Given the description of an element on the screen output the (x, y) to click on. 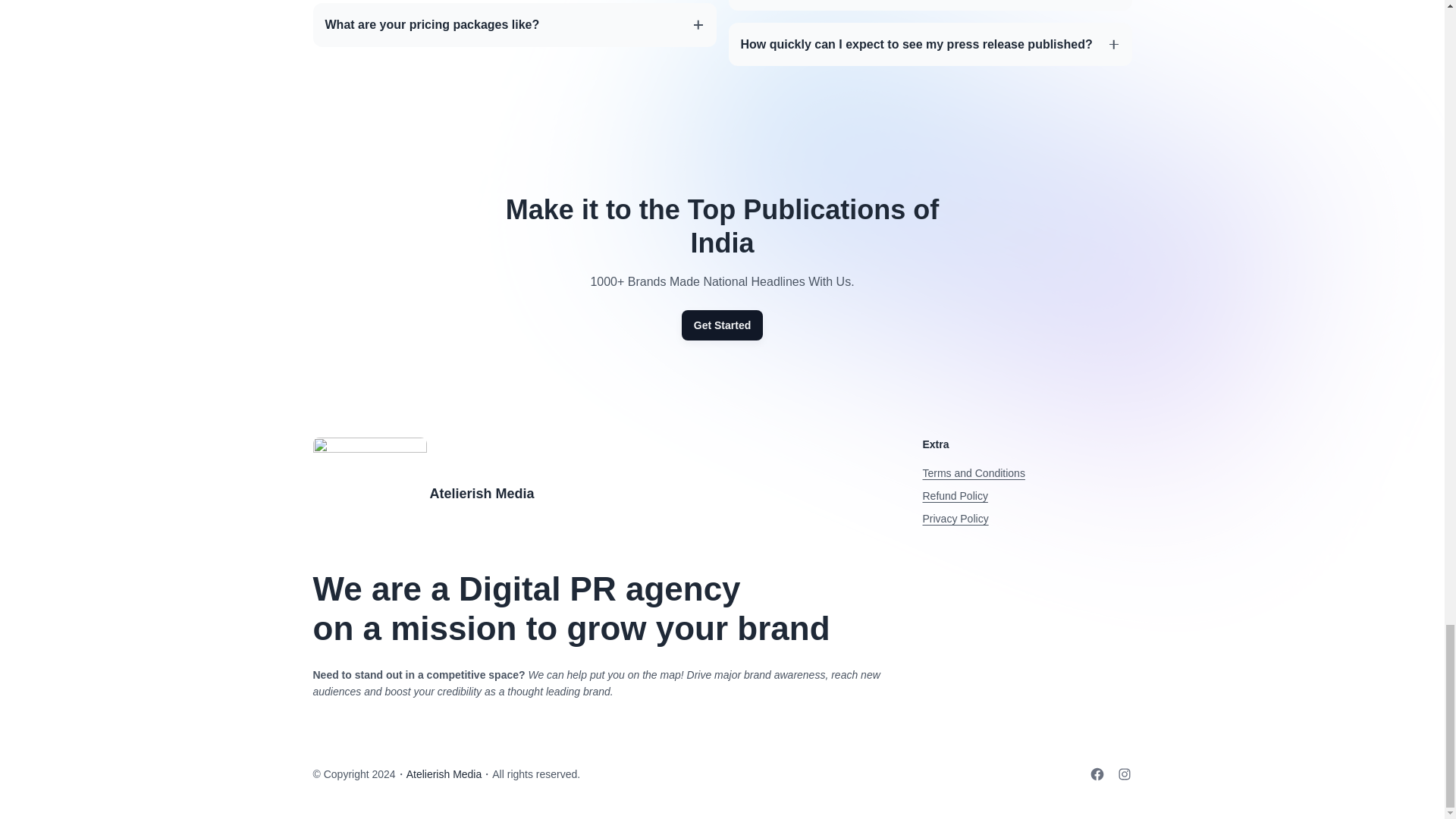
Privacy Policy (954, 518)
Refund Policy (954, 495)
Atelierish Media (481, 493)
Get Started (721, 325)
Atelierish Media (443, 774)
Terms and Conditions (973, 472)
